Given the description of an element on the screen output the (x, y) to click on. 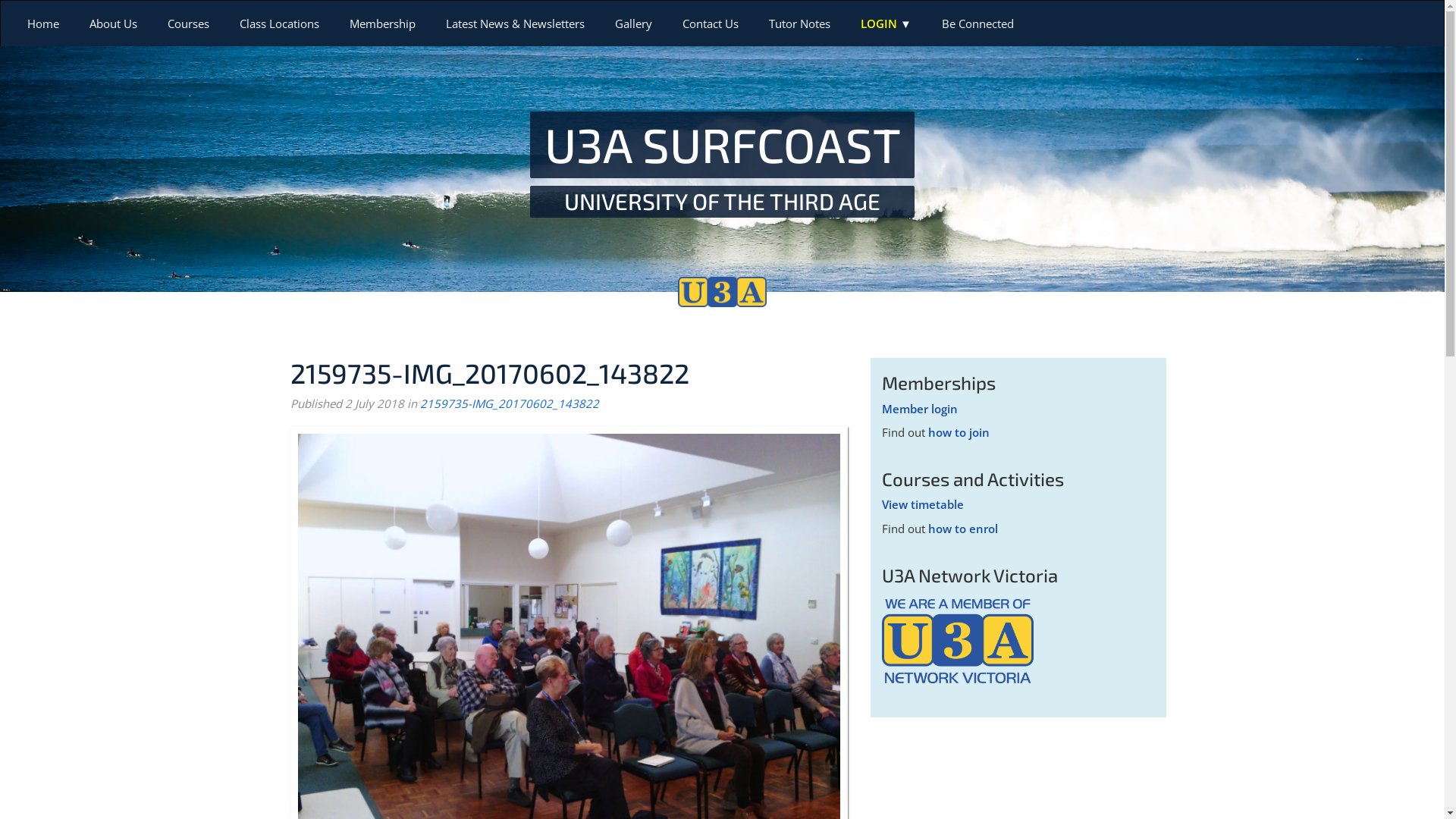
Latest News & Newsletters Element type: text (514, 23)
LOGIN Element type: text (885, 23)
U3A SURFCOAST
UNIVERSITY OF THE THIRD AGE Element type: text (722, 163)
Contact Us Element type: text (710, 23)
Be Connected Element type: text (977, 23)
Courses Element type: text (188, 23)
how to join Element type: text (958, 431)
Membership Element type: text (382, 23)
Home Element type: text (43, 23)
how to enrol Element type: text (962, 528)
Gallery Element type: text (633, 23)
Tutor Notes Element type: text (799, 23)
Member login Element type: text (919, 408)
About Us Element type: text (113, 23)
2159735-IMG_20170602_143822 Element type: text (509, 403)
Class Locations Element type: text (279, 23)
View timetable Element type: text (922, 503)
